Given the description of an element on the screen output the (x, y) to click on. 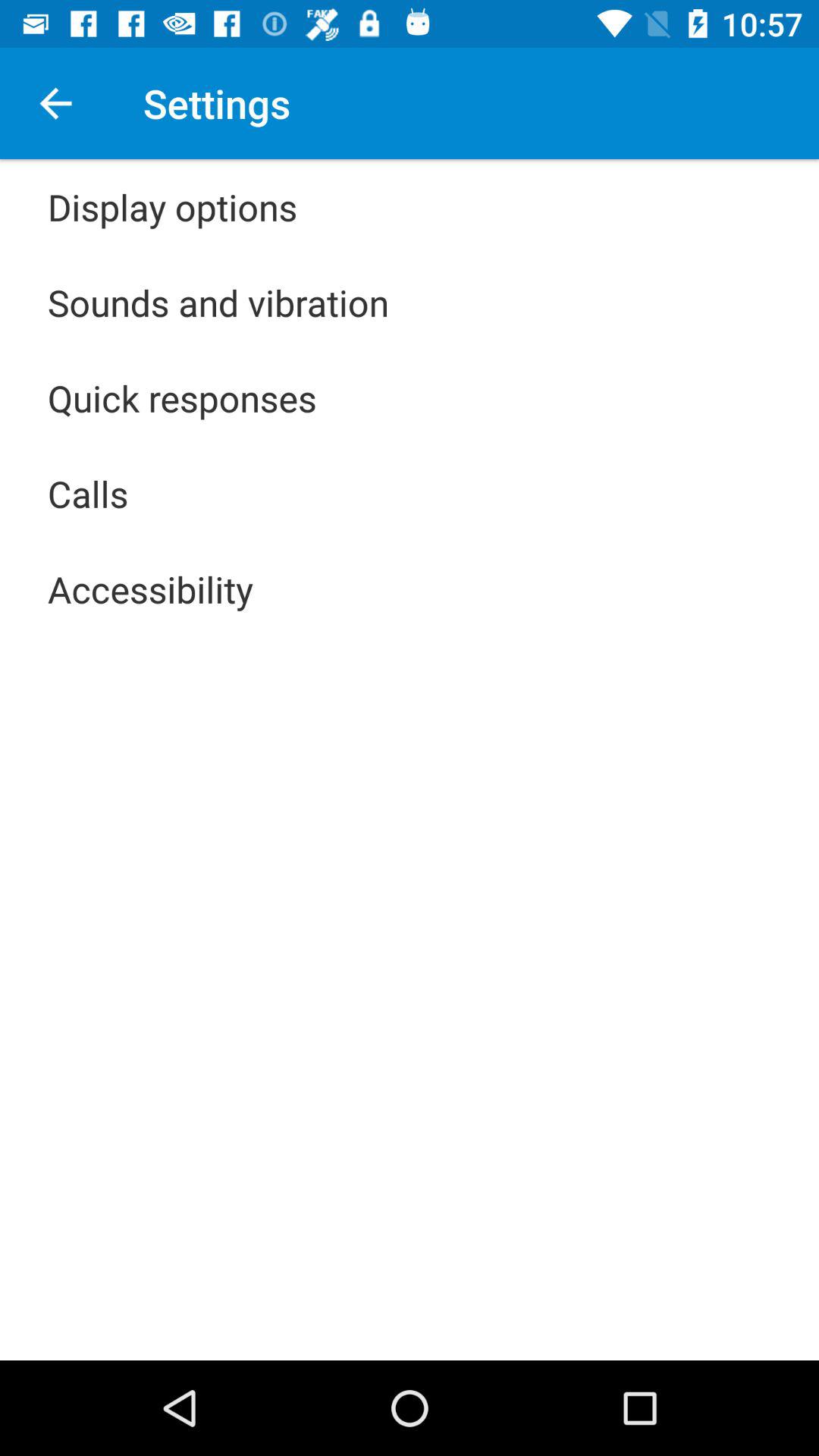
choose the quick responses icon (181, 397)
